Given the description of an element on the screen output the (x, y) to click on. 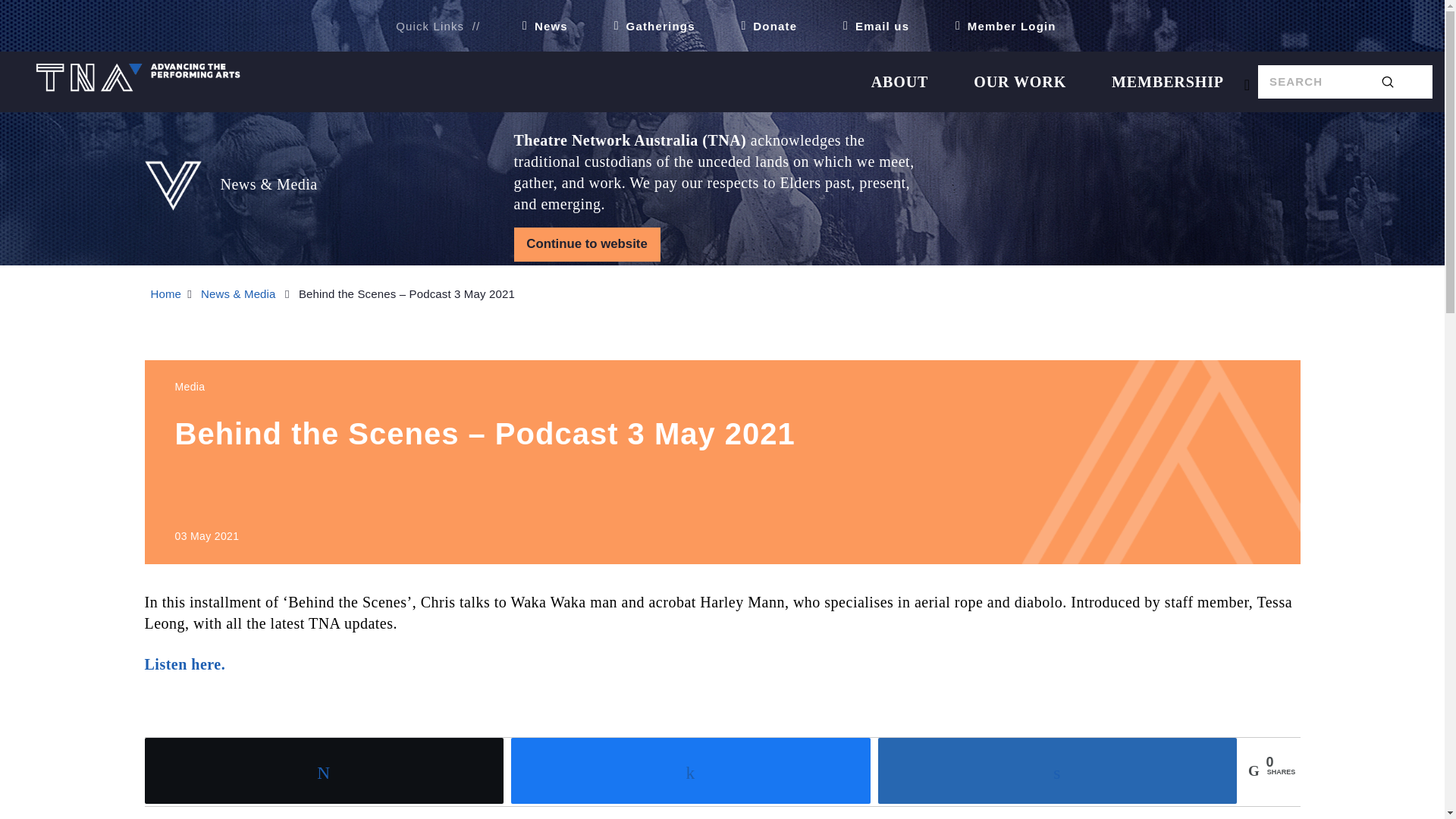
Email us (869, 25)
Gatherings (648, 25)
Continue to website (587, 244)
Member Login (999, 25)
News (539, 25)
Donate (762, 25)
